Given the description of an element on the screen output the (x, y) to click on. 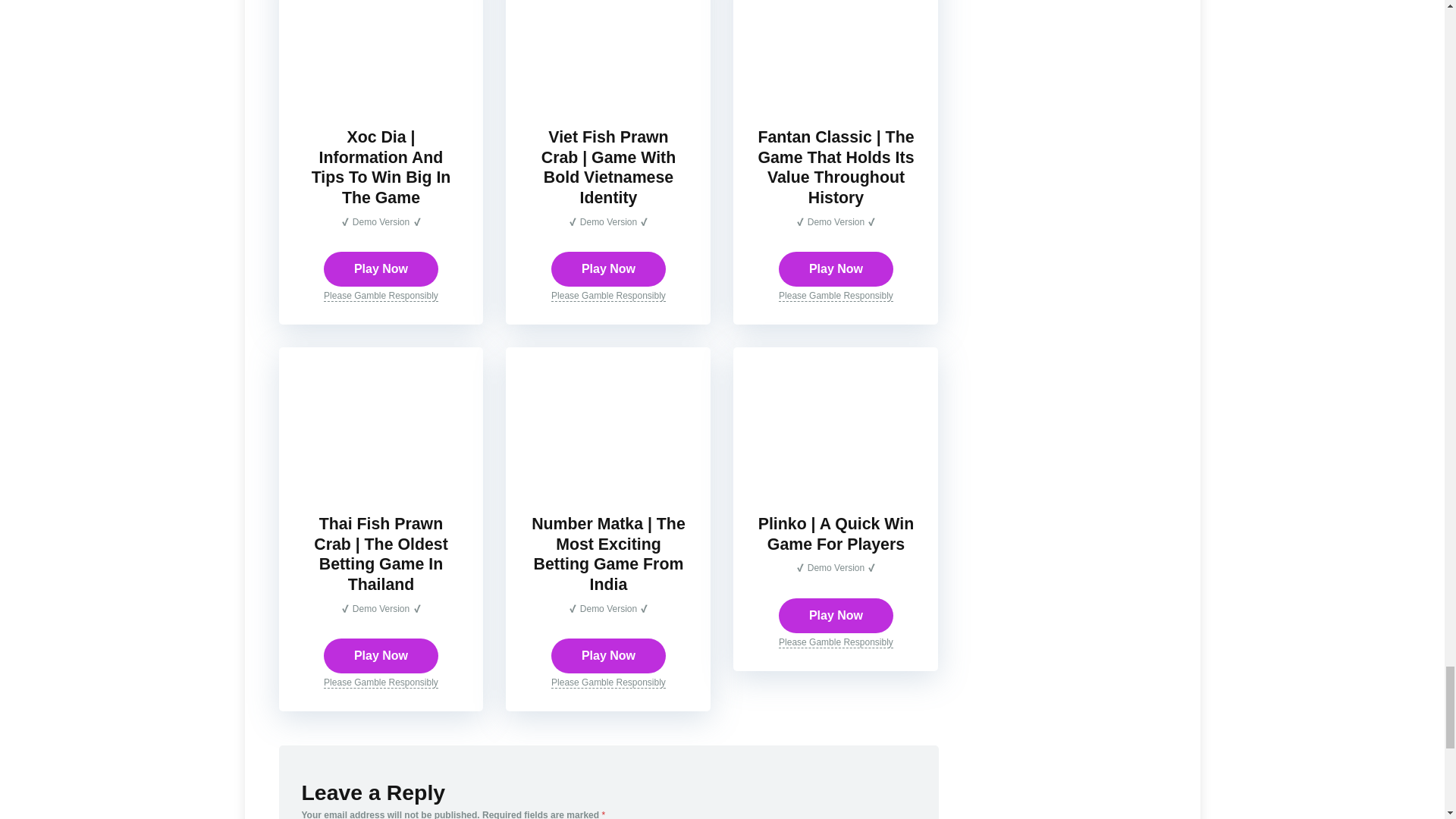
Play Now (380, 268)
Play Now (835, 268)
Play Now (608, 268)
